Given the description of an element on the screen output the (x, y) to click on. 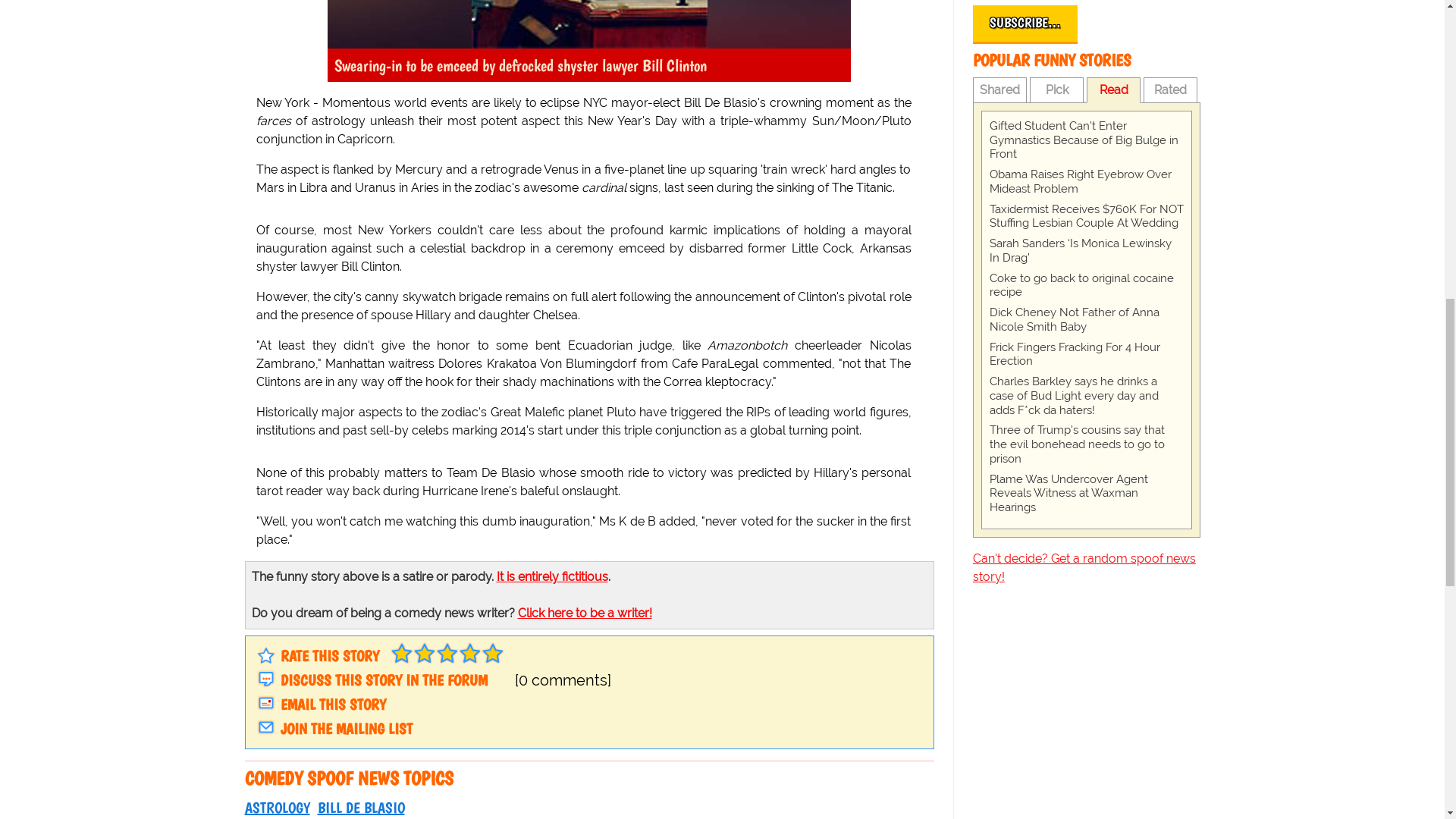
Click here to be a writer! (583, 612)
ASTROLOGY (276, 807)
It is entirely fictitious (551, 576)
DISCUSS THIS STORY IN THE FORUM (384, 679)
Frick Fingers Fracking For 4 Hour Erection (1086, 354)
Obama Raises Right Eyebrow Over Mideast Problem (1086, 181)
Coke to go back to original cocaine recipe (1086, 285)
EMAIL THIS STORY (333, 704)
